Given the description of an element on the screen output the (x, y) to click on. 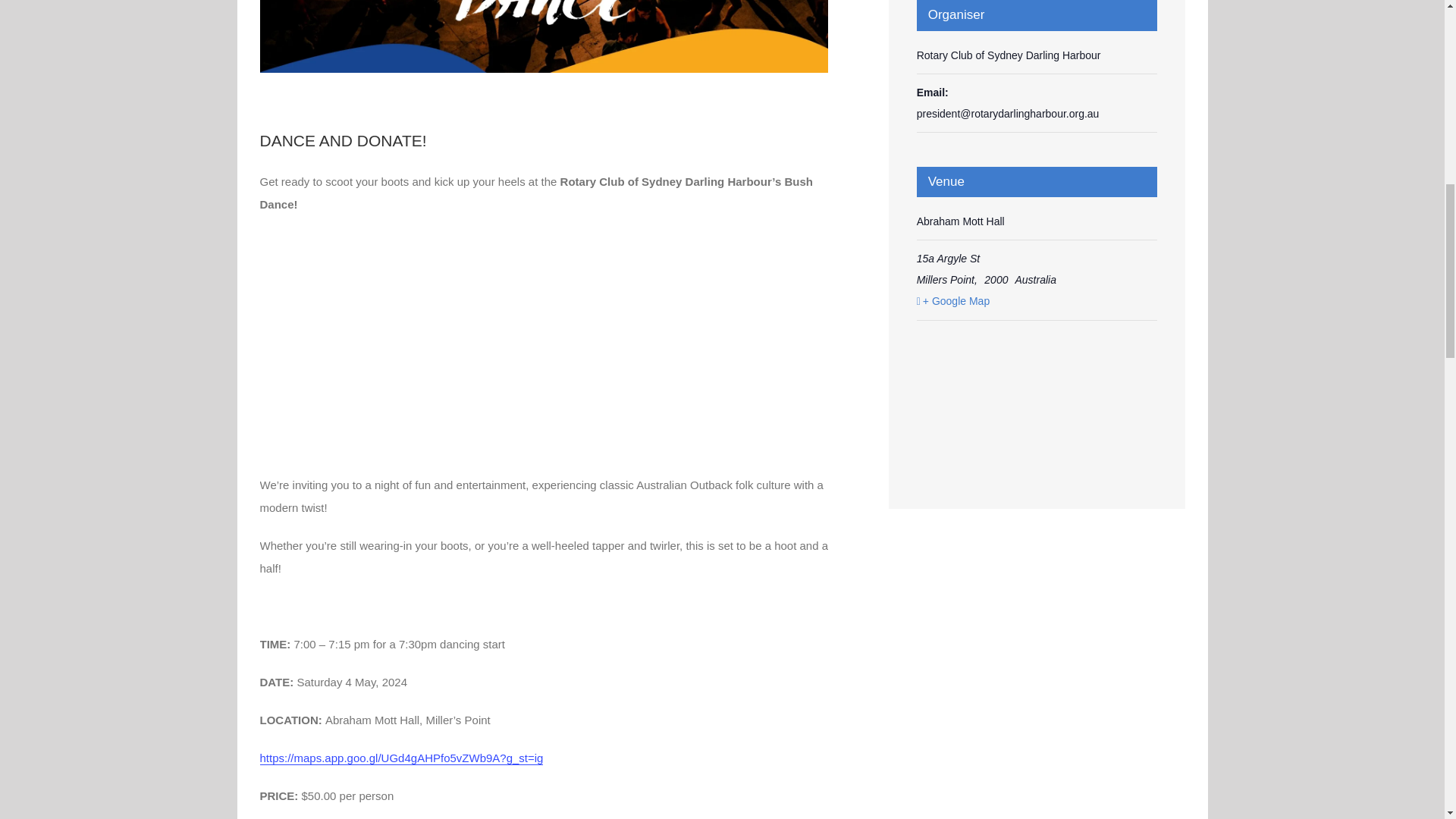
Click to view a Google Map (1035, 301)
